Given the description of an element on the screen output the (x, y) to click on. 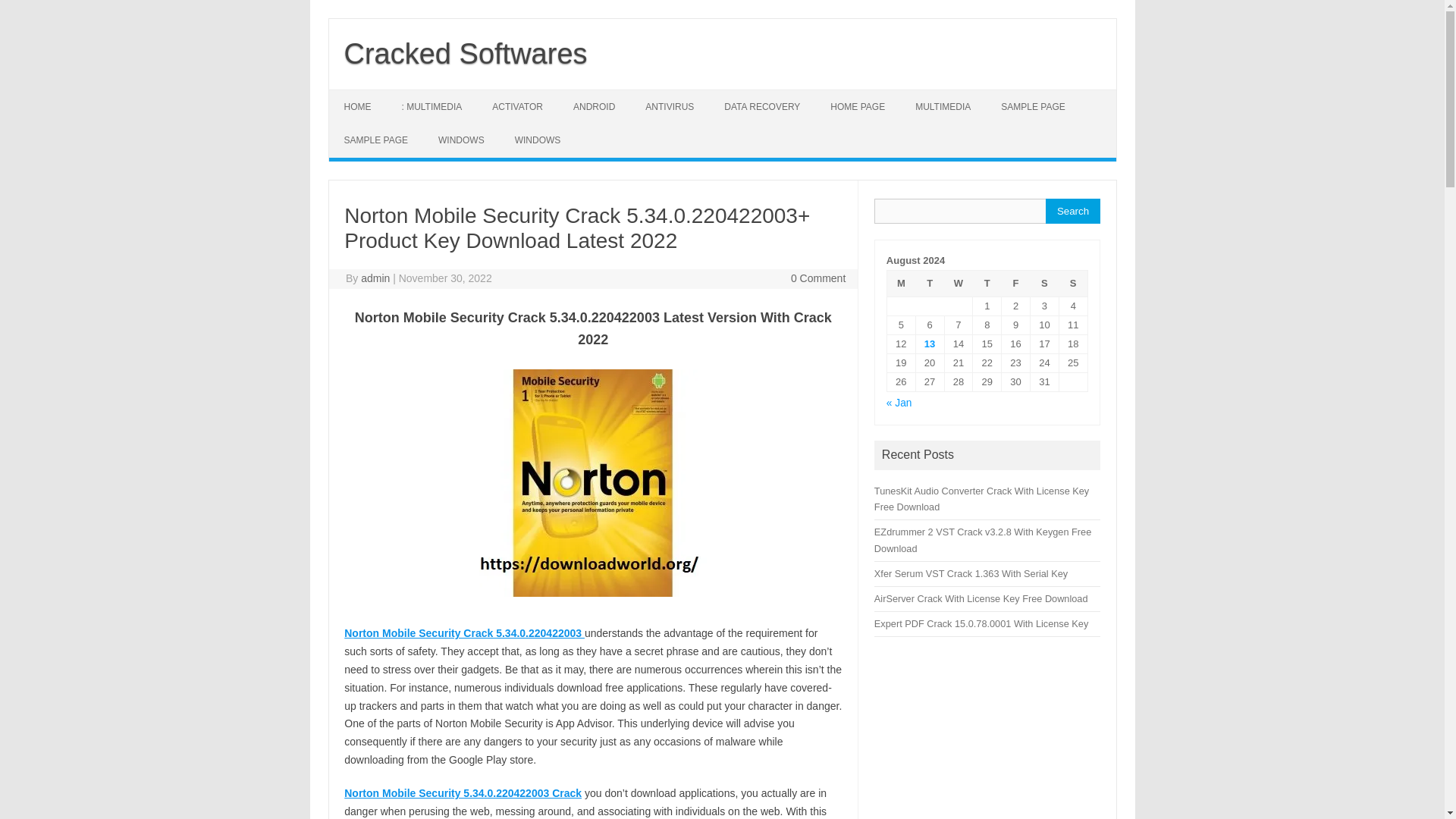
ACTIVATOR (517, 106)
WINDOWS (537, 140)
Monday (900, 283)
DATA RECOVERY (762, 106)
ANDROID (593, 106)
0 Comment (817, 277)
: MULTIMEDIA (432, 106)
WINDOWS (461, 140)
Norton Mobile Security 5.34.0.220422003 Crack (461, 793)
Search (1072, 211)
